Given the description of an element on the screen output the (x, y) to click on. 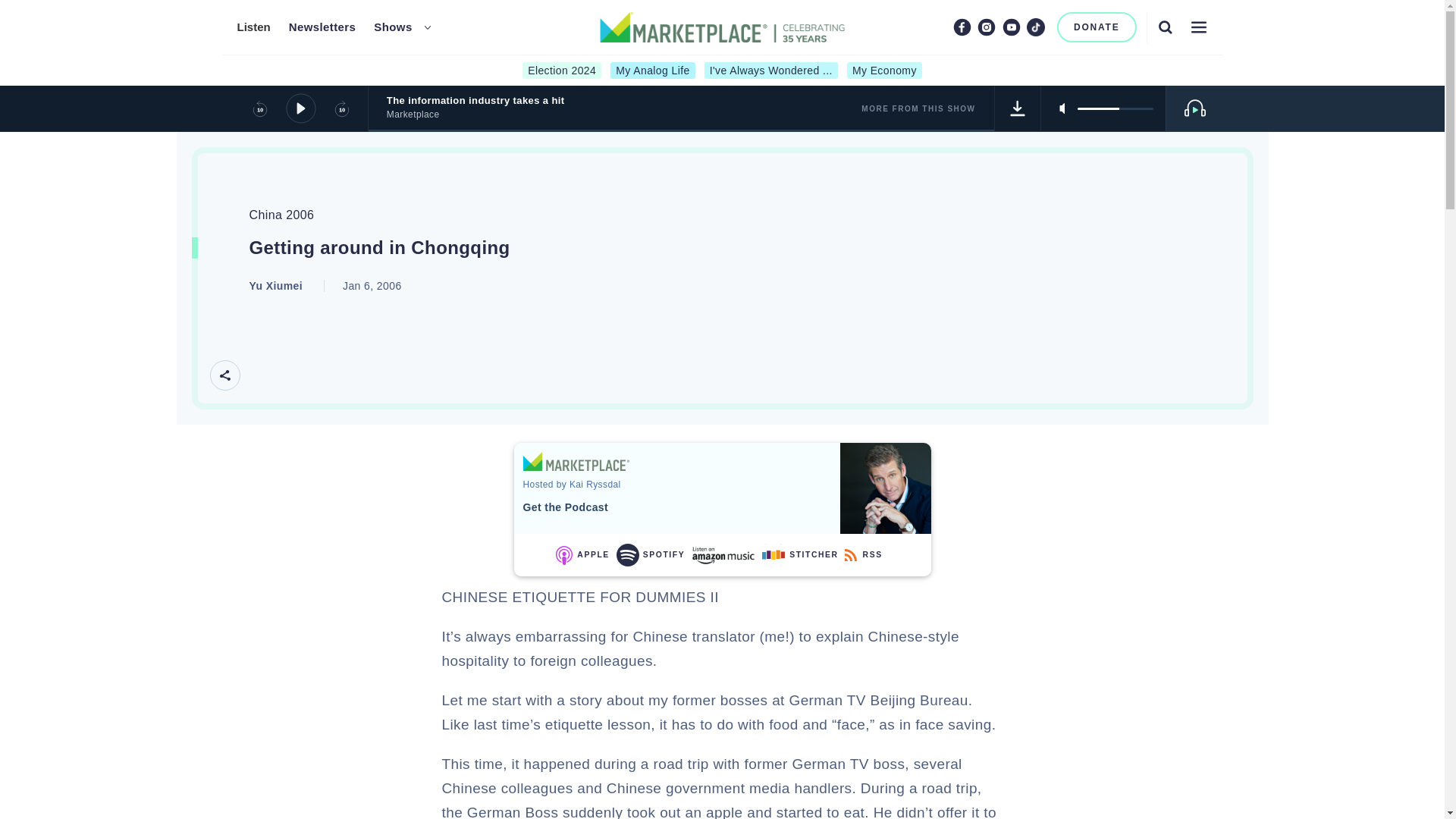
Shows (393, 26)
Menu (1198, 27)
Download Track (1017, 108)
Facebook (962, 27)
Search (1164, 27)
Newsletters (322, 27)
Listen (252, 26)
Youtube (1011, 27)
volume (1115, 108)
Marketplace (575, 461)
5 (1115, 108)
Instagram (985, 27)
TikTok (1035, 27)
DONATE (1097, 27)
